Given the description of an element on the screen output the (x, y) to click on. 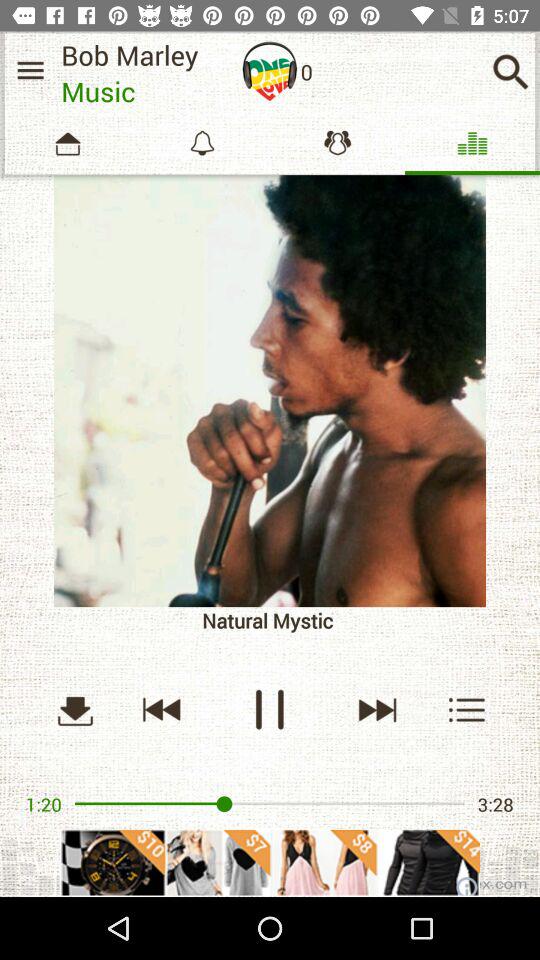
previous song (162, 709)
